Given the description of an element on the screen output the (x, y) to click on. 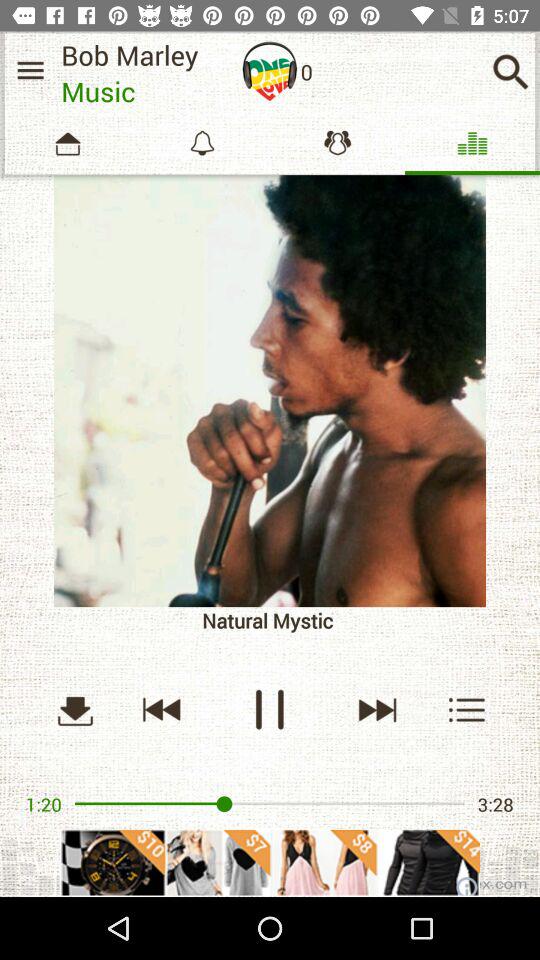
previous song (162, 709)
